Given the description of an element on the screen output the (x, y) to click on. 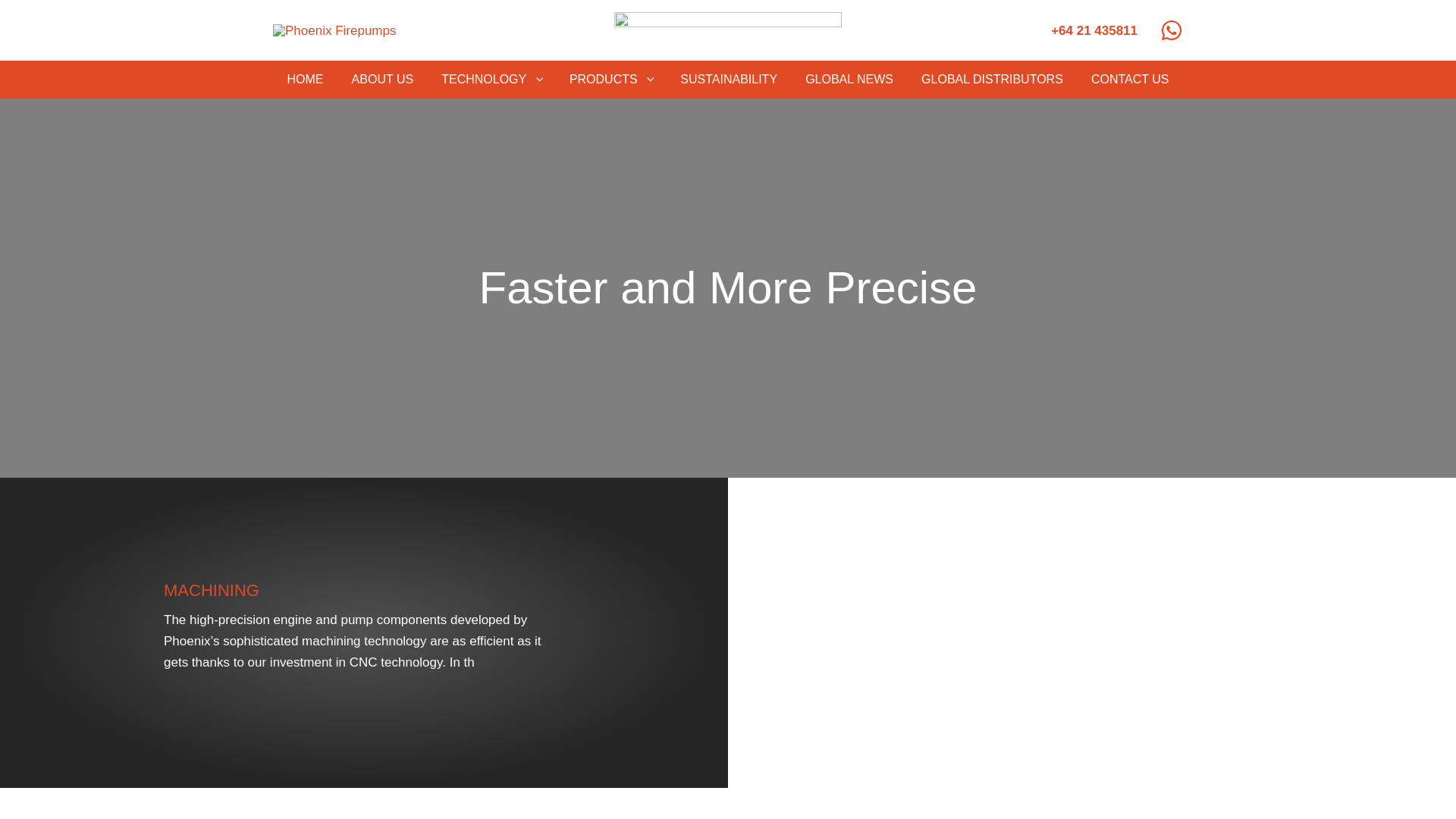
TECHNOLOGY (492, 79)
ABOUT US (382, 79)
GLOBAL DISTRIBUTORS (992, 79)
CONTACT US (1129, 79)
HOME (305, 79)
SUSTAINABILITY (729, 79)
PRODUCTS (609, 79)
GLOBAL NEWS (849, 79)
